Given the description of an element on the screen output the (x, y) to click on. 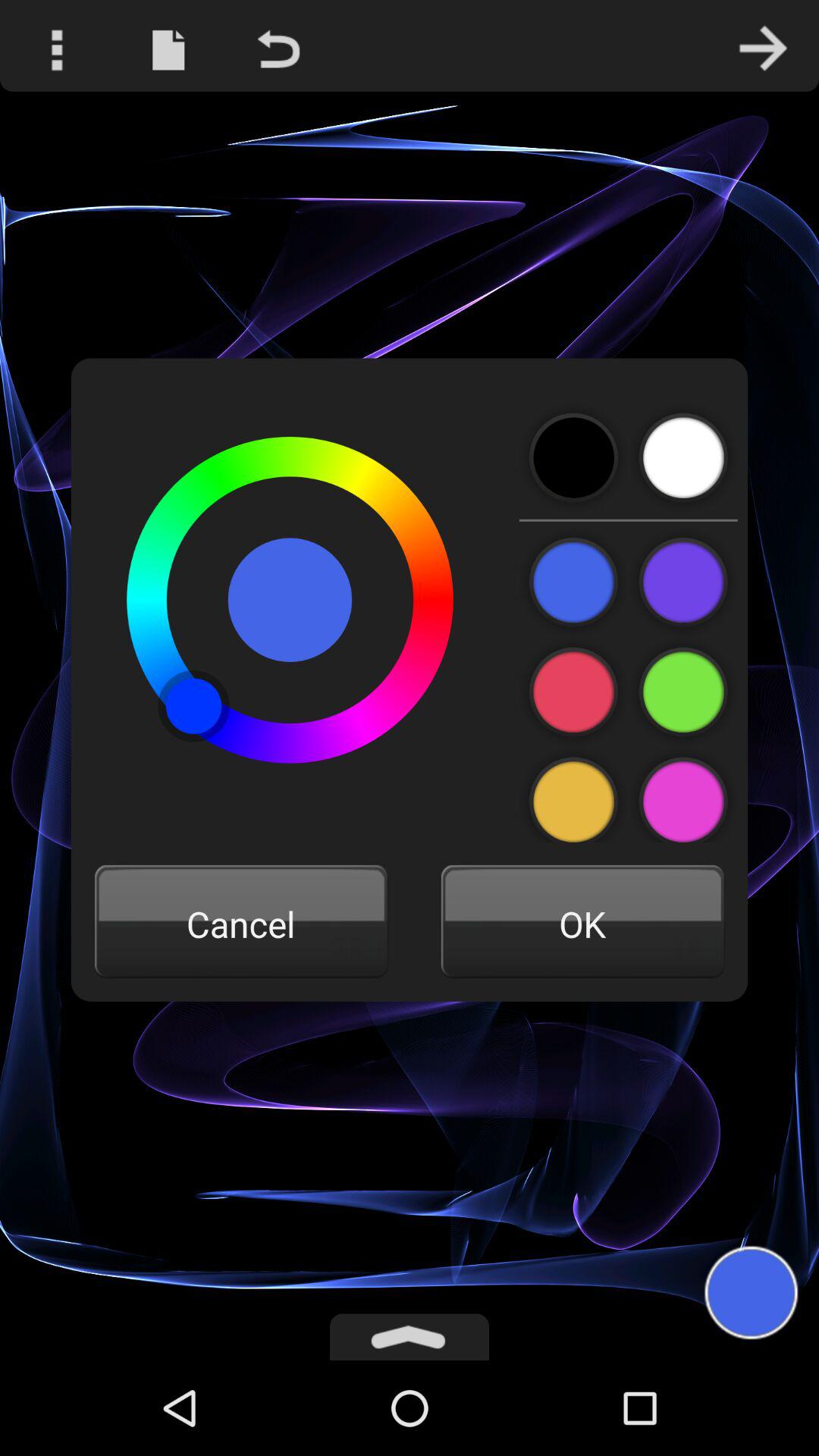
change color (574, 582)
